Given the description of an element on the screen output the (x, y) to click on. 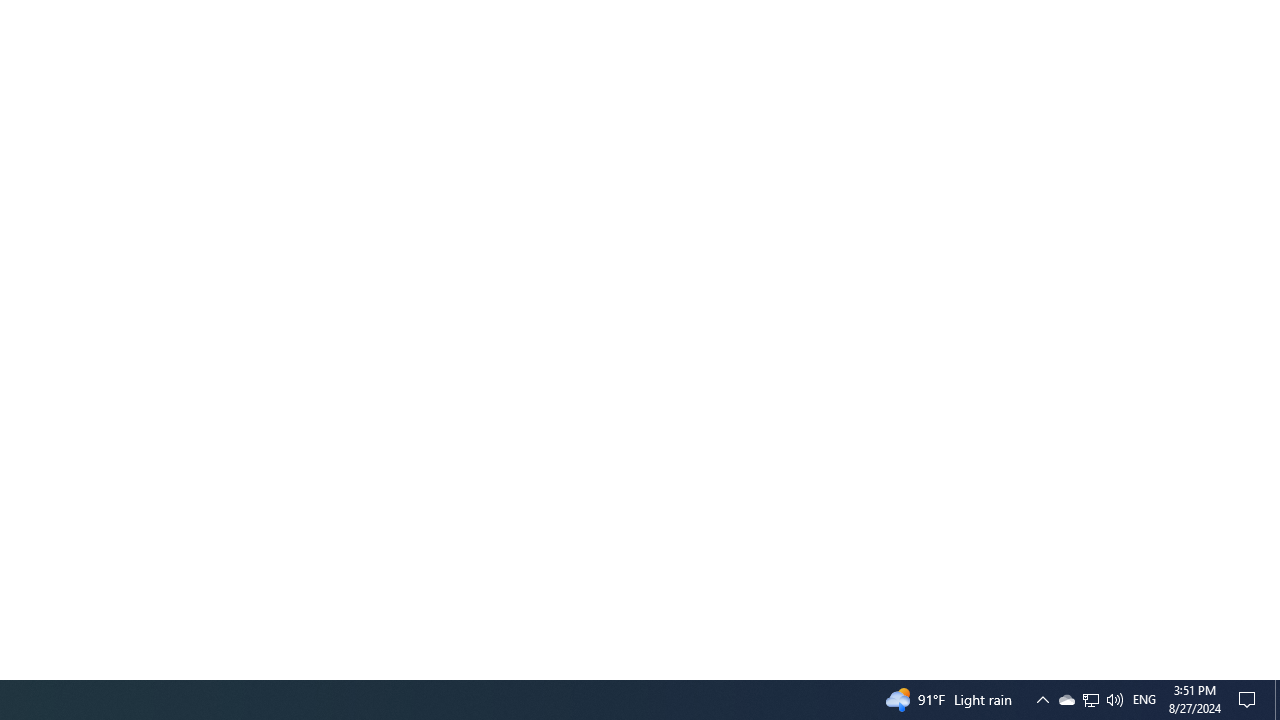
Tray Input Indicator - English (United States) (1144, 699)
